Given the description of an element on the screen output the (x, y) to click on. 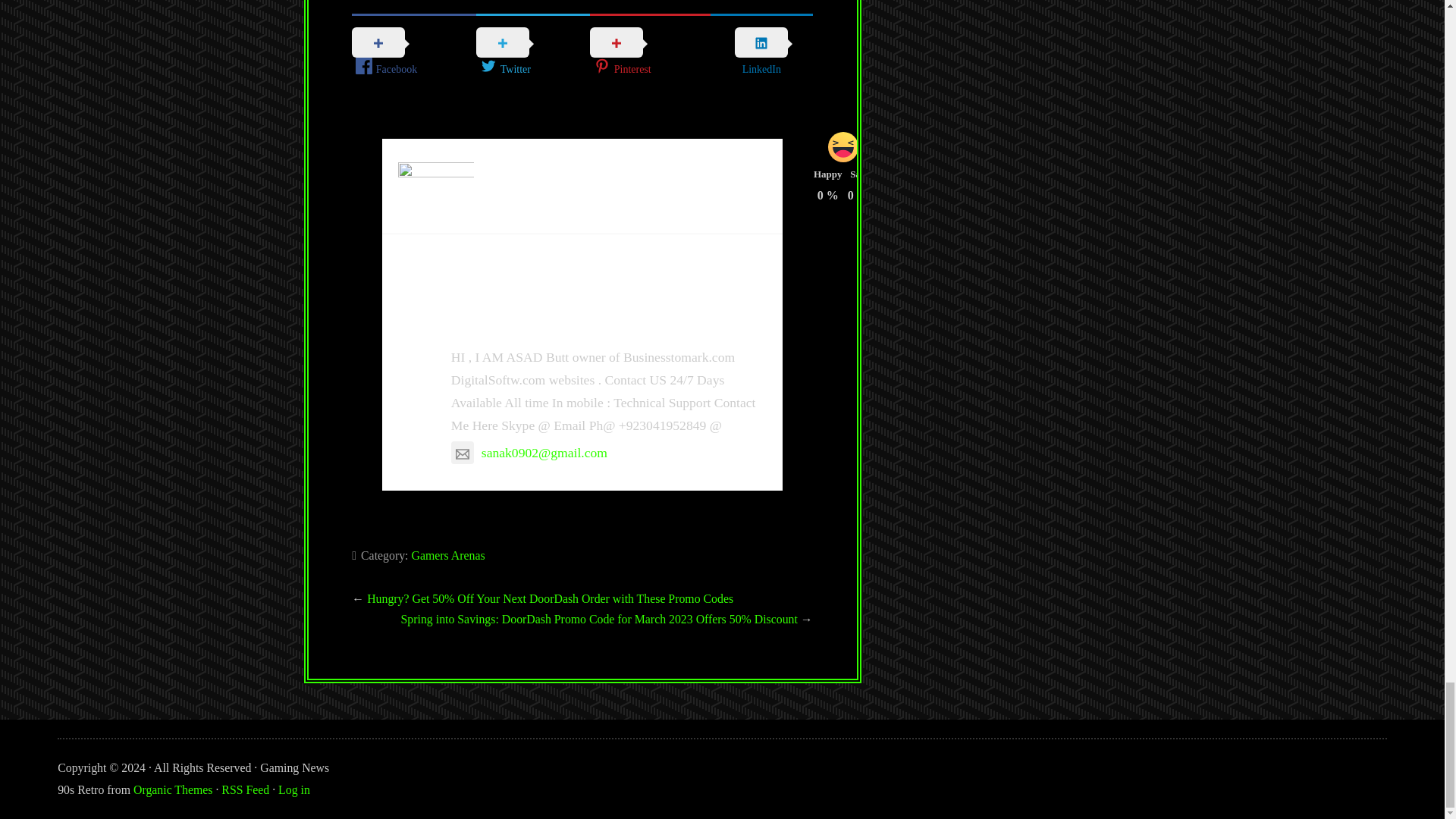
Facebook (414, 53)
Pinterest (649, 53)
Gamers Arenas (447, 554)
Twitter (532, 53)
LinkedIn (761, 52)
asad butt (500, 320)
